Given the description of an element on the screen output the (x, y) to click on. 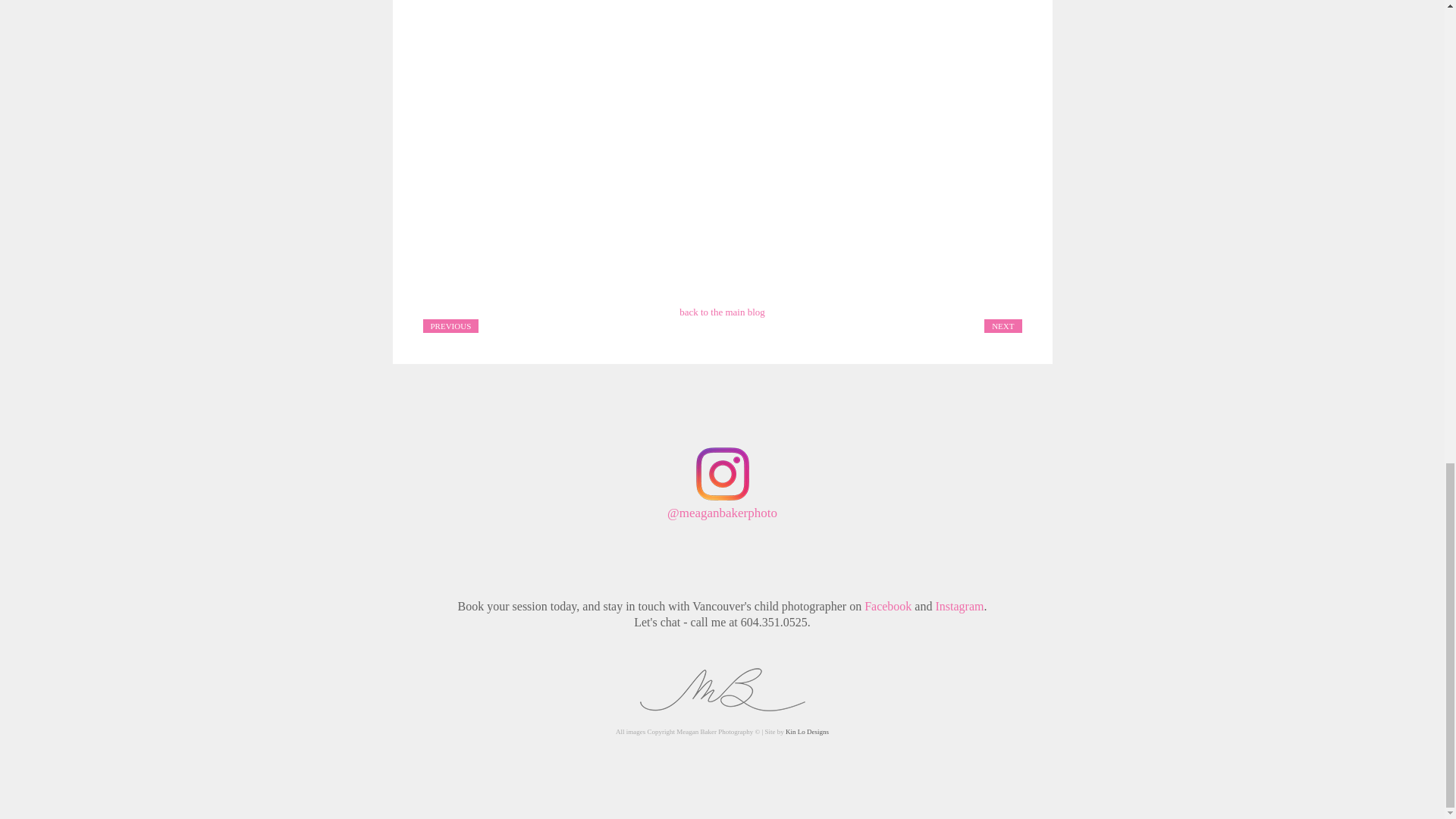
back to the main blog (722, 311)
NEXT (1003, 324)
Instagram (959, 605)
Facebook (887, 605)
PREVIOUS (451, 324)
